Given the description of an element on the screen output the (x, y) to click on. 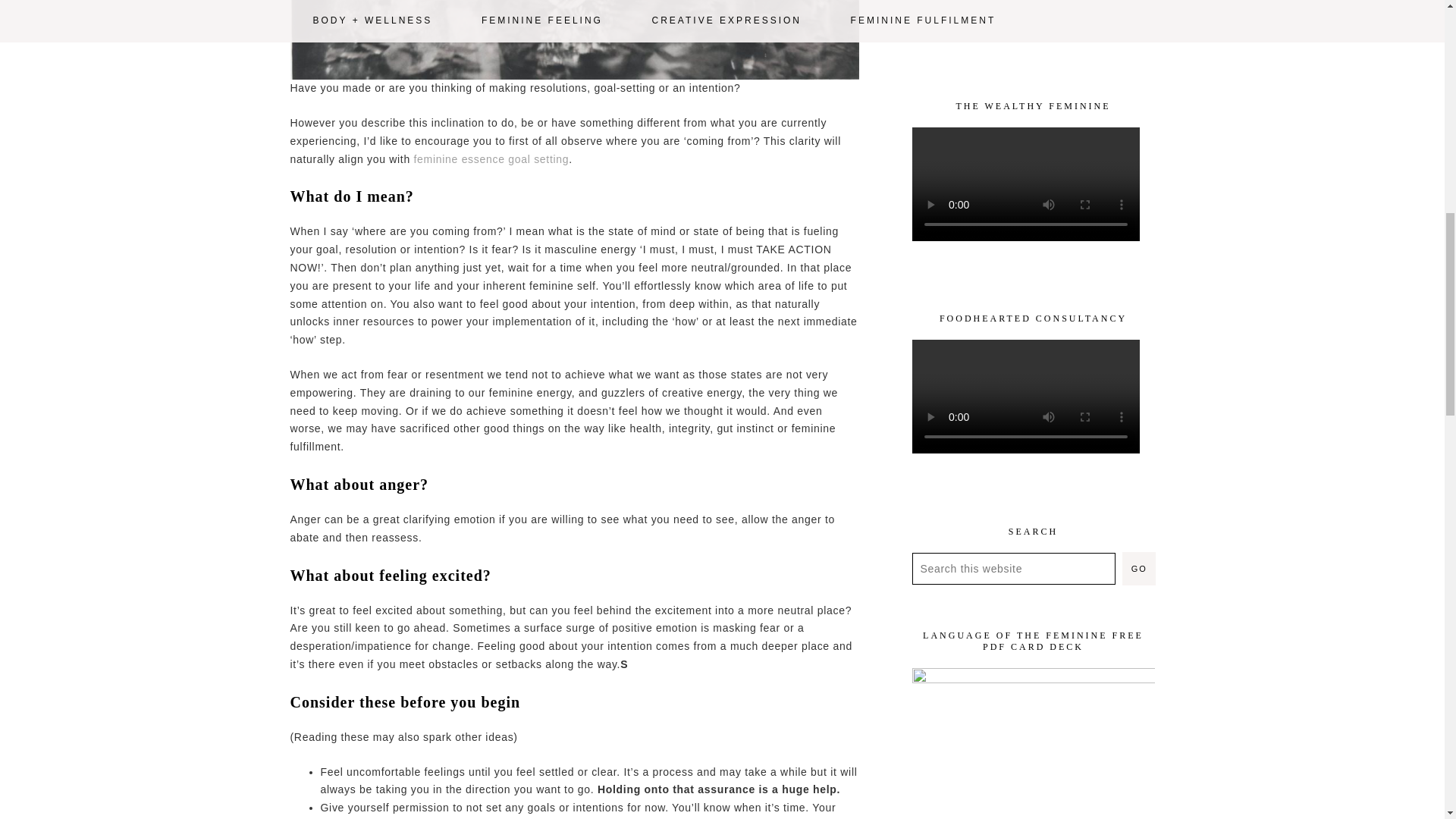
GO (1139, 568)
GO (1139, 568)
feminine essence goal setting (491, 159)
GO (1139, 568)
